Given the description of an element on the screen output the (x, y) to click on. 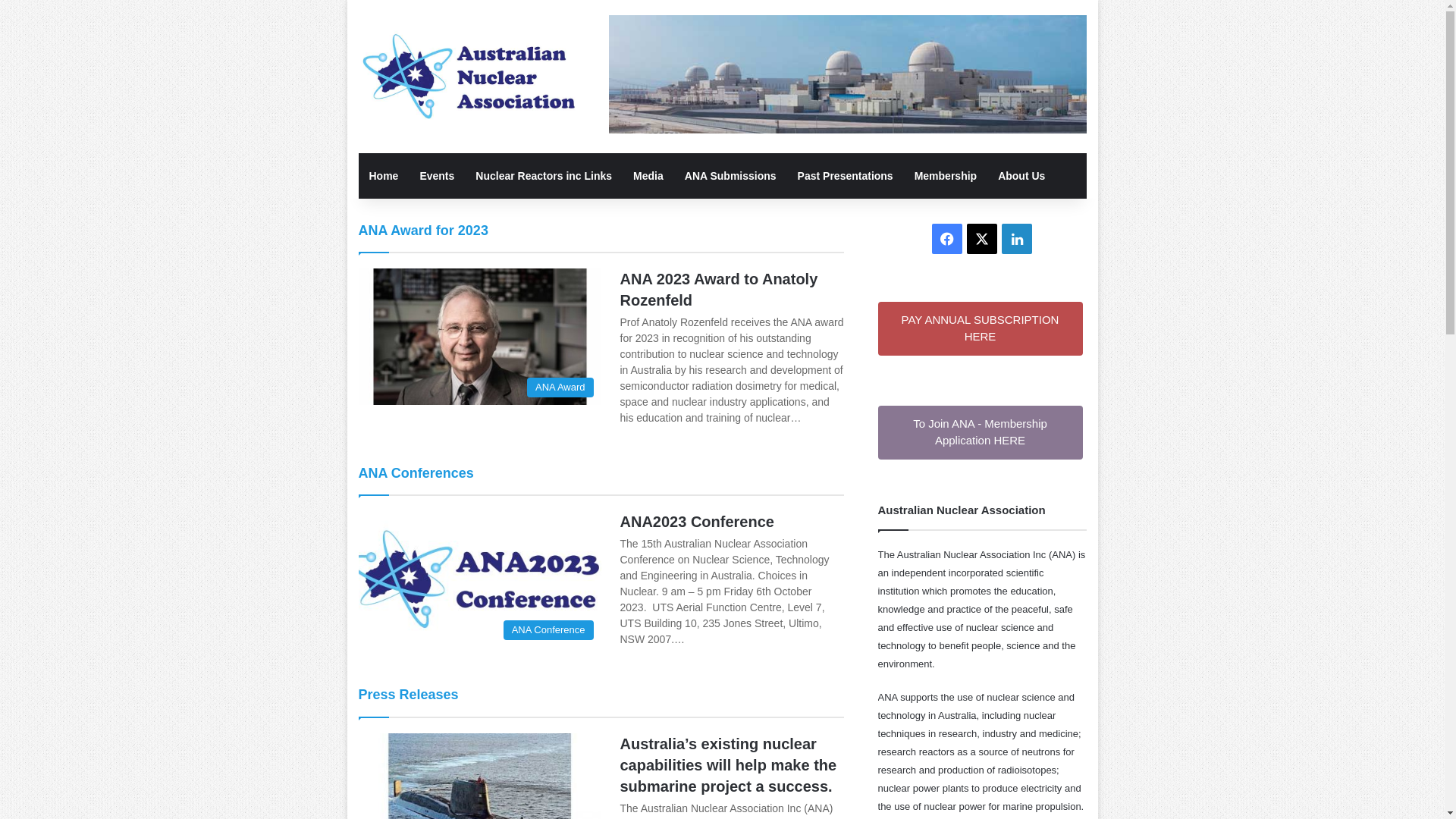
To Join ANA - Membership Application HERE Element type: text (980, 432)
ANA 2023 Award to Anatoly Rozenfeld Element type: text (719, 289)
Facebook Element type: text (946, 238)
LinkedIn Element type: text (1016, 238)
ANA2023 Conference Element type: text (697, 521)
Nuclear Reactors inc Links Element type: text (543, 175)
ANA Conference Element type: text (478, 579)
ANA Submissions Element type: text (730, 175)
ANA Award Element type: text (478, 336)
Events Element type: text (436, 175)
PAY ANNUAL SUBSCRIPTION HERE Element type: text (980, 328)
About Us Element type: text (1021, 175)
Australian Nuclear Association Element type: hover (471, 76)
Home Element type: text (382, 175)
Past Presentations Element type: text (845, 175)
X Element type: text (981, 238)
Media Element type: text (648, 175)
Membership Element type: text (945, 175)
